Given the description of an element on the screen output the (x, y) to click on. 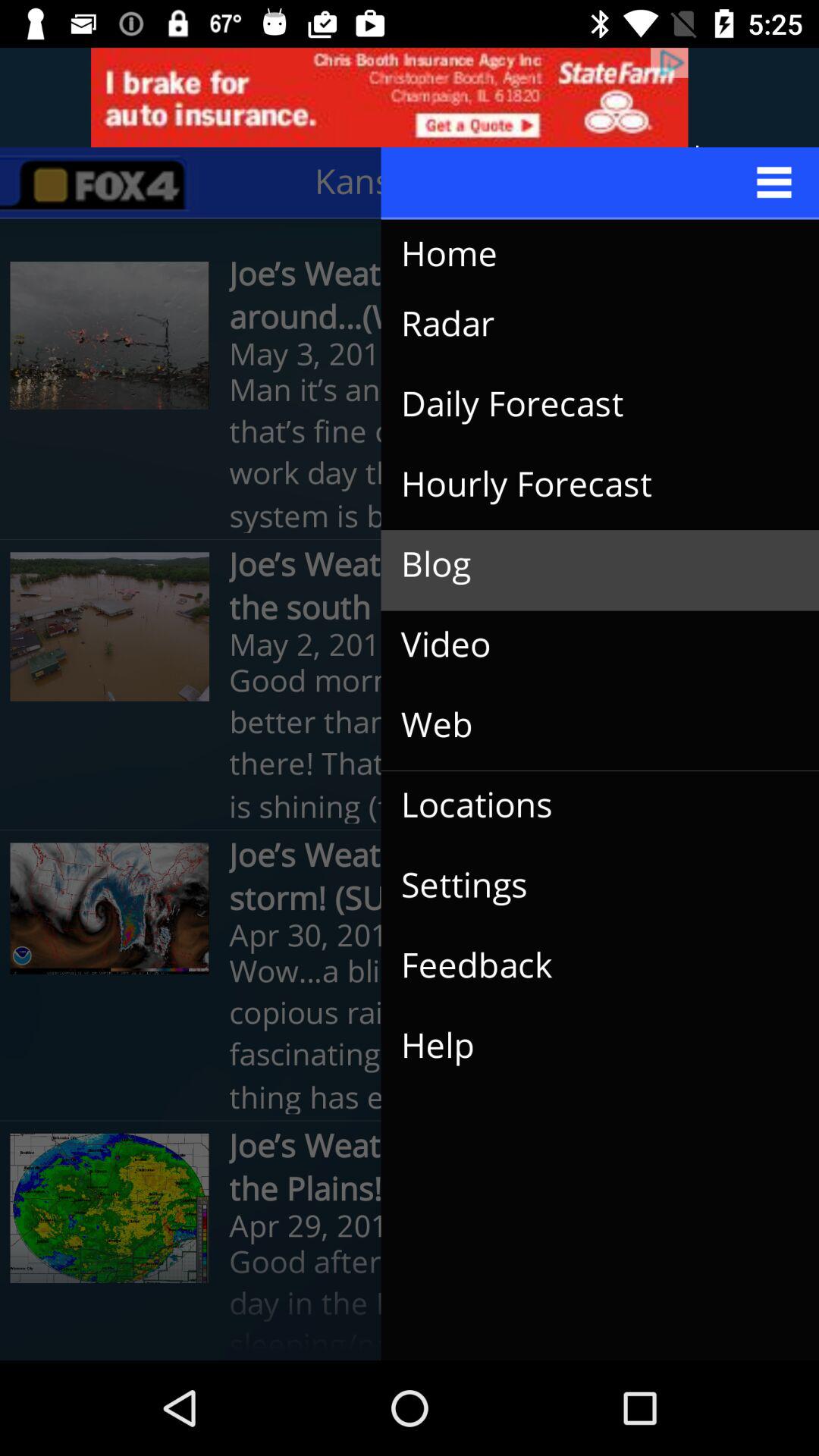
jump to kansas city, mo icon (468, 182)
